Given the description of an element on the screen output the (x, y) to click on. 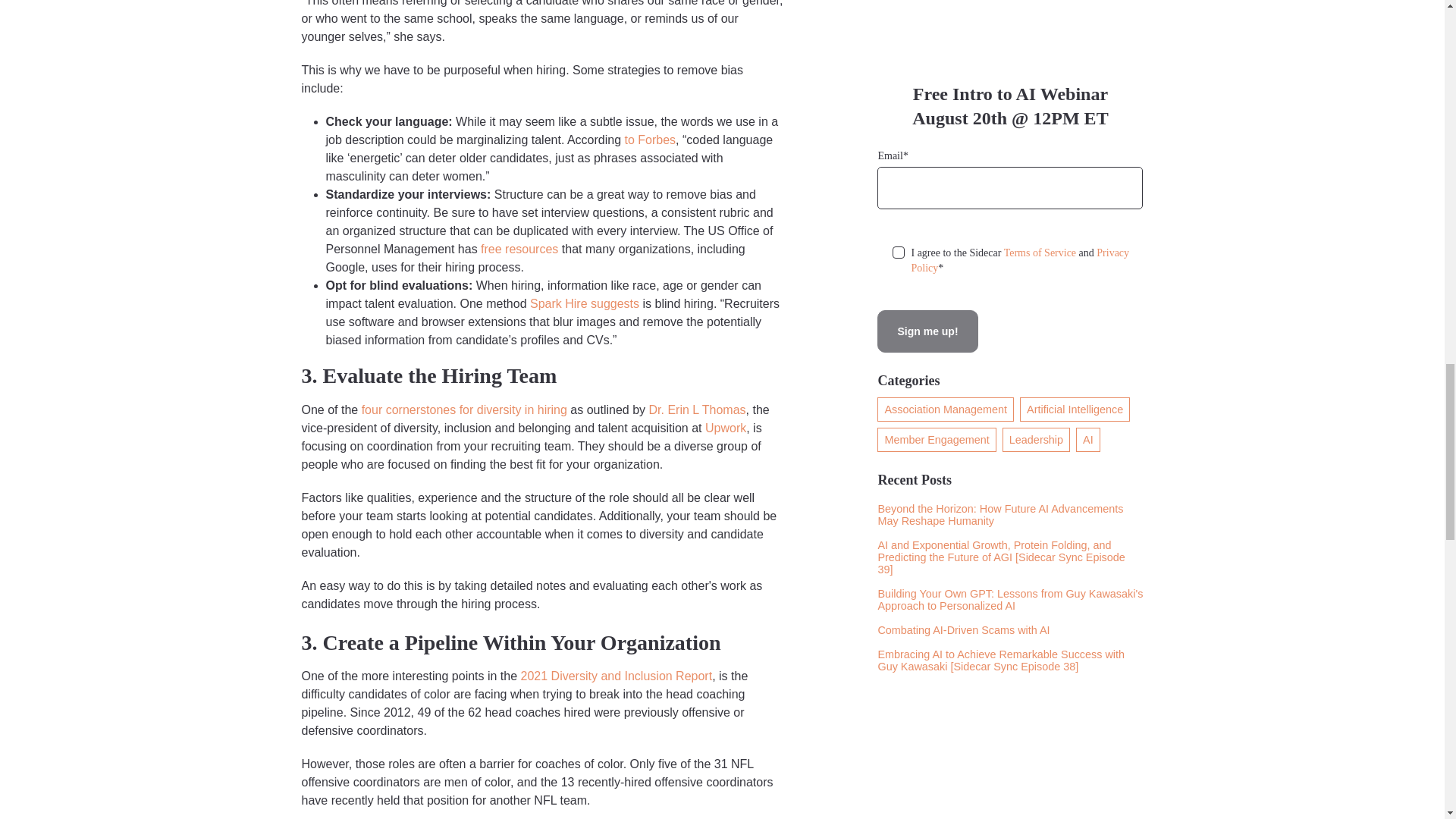
to Forbes (650, 139)
free resources (518, 248)
